Given the description of an element on the screen output the (x, y) to click on. 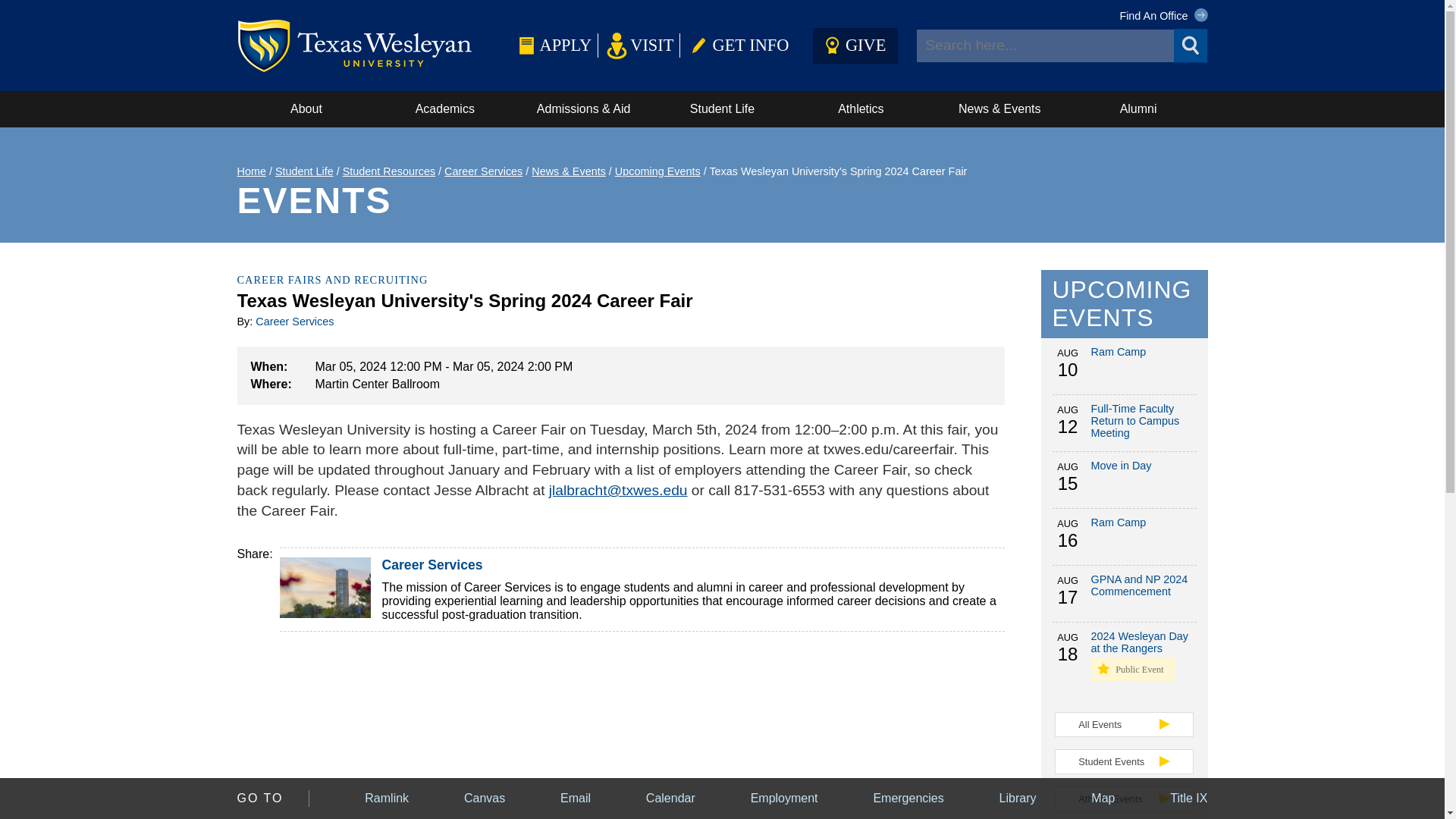
GIVE (855, 45)
Texas Wesleyan University Homepage (373, 44)
VISIT (638, 44)
APPLY (551, 44)
Find An Office (1163, 15)
GET INFO (737, 44)
Submit Search (1190, 45)
